Given the description of an element on the screen output the (x, y) to click on. 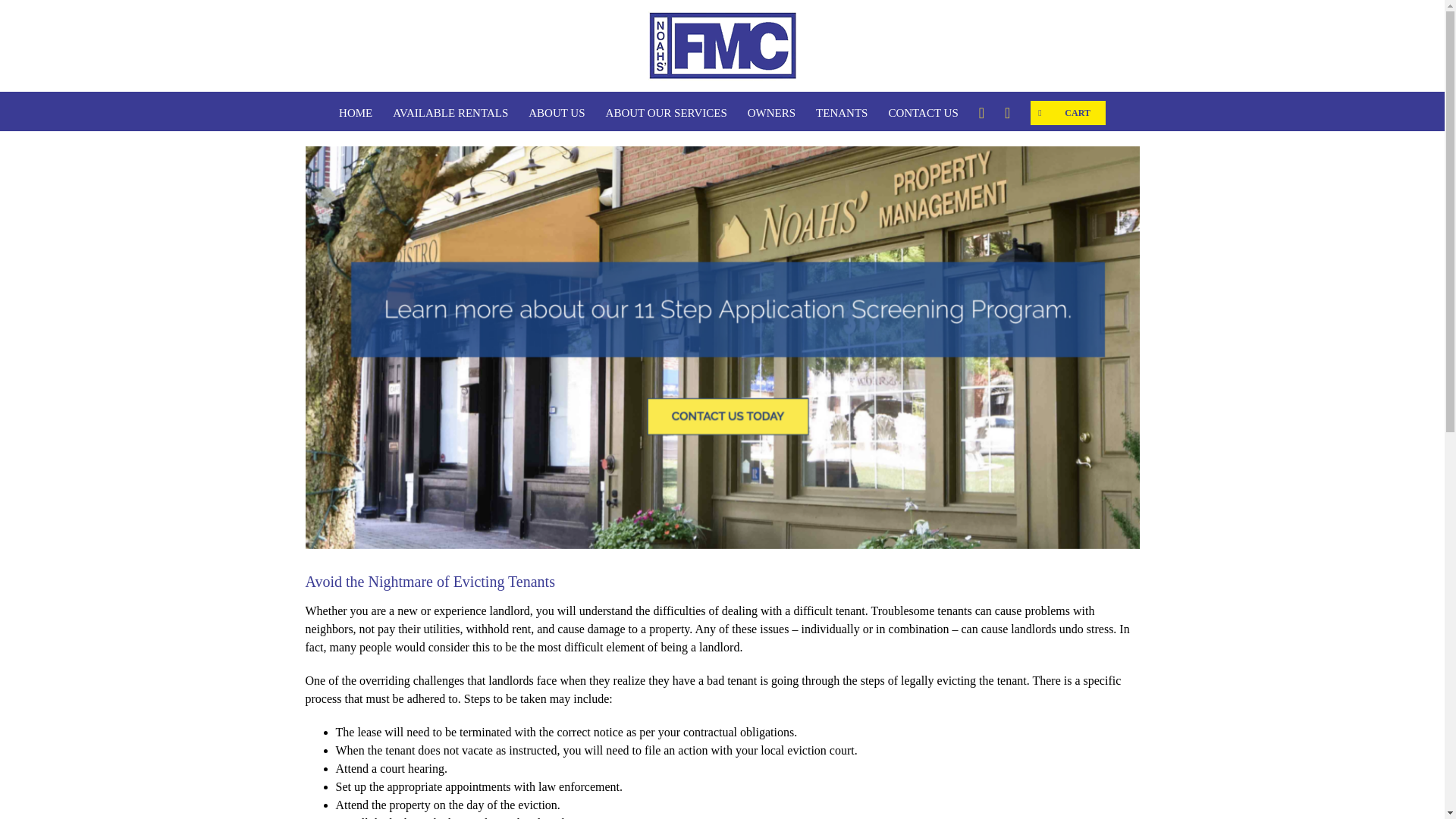
AVAILABLE RENTALS (450, 111)
ABOUT OUR SERVICES (665, 111)
TENANTS (841, 111)
CONTACT US (923, 111)
OWNERS (771, 111)
CART (1067, 111)
ABOUT US (556, 111)
